Given the description of an element on the screen output the (x, y) to click on. 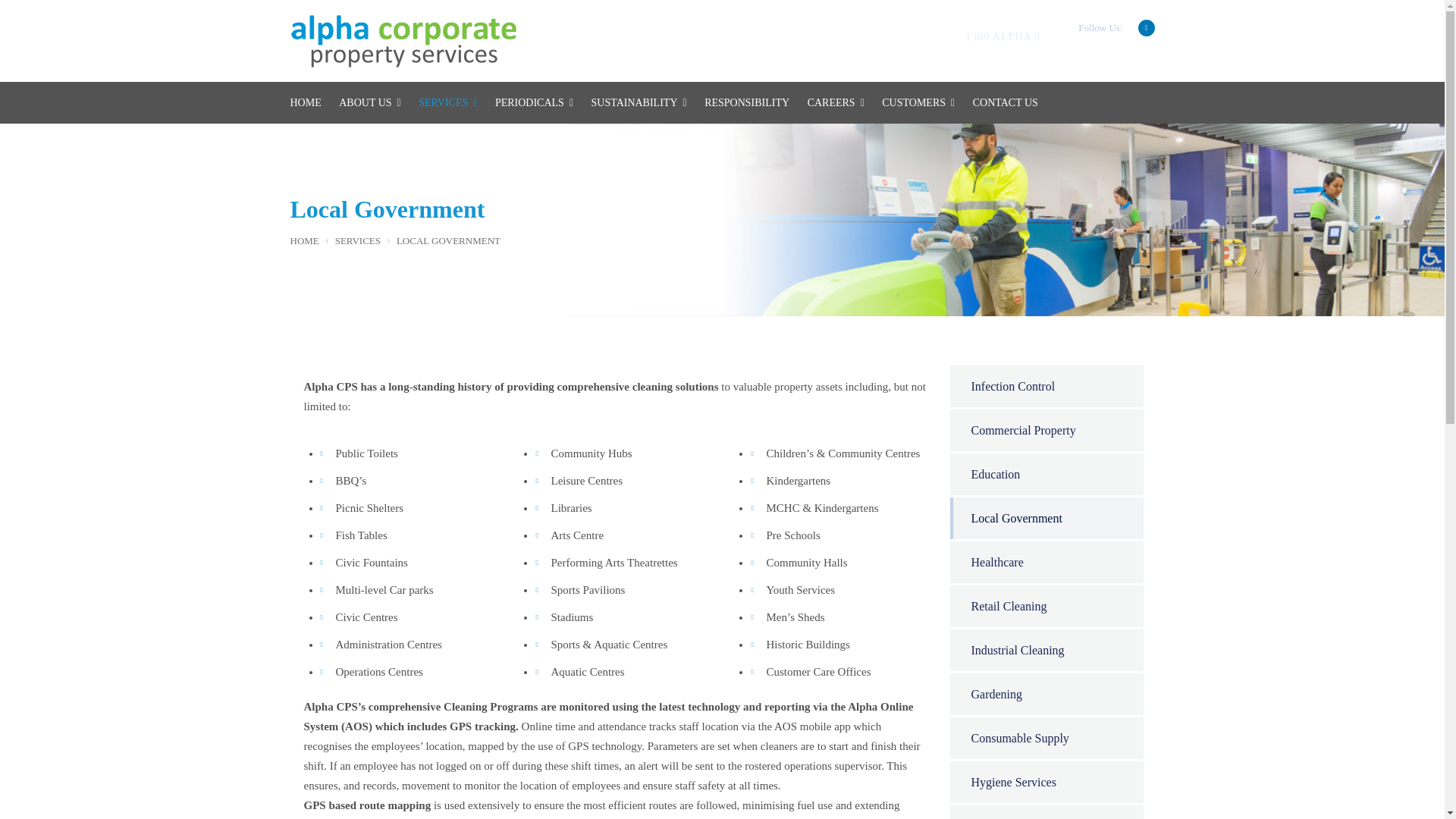
PERIODICALS (534, 102)
1300 ALPHA 9 (1003, 36)
SERVICES (448, 102)
ABOUT US (370, 102)
SUSTAINABILITY (639, 102)
